Given the description of an element on the screen output the (x, y) to click on. 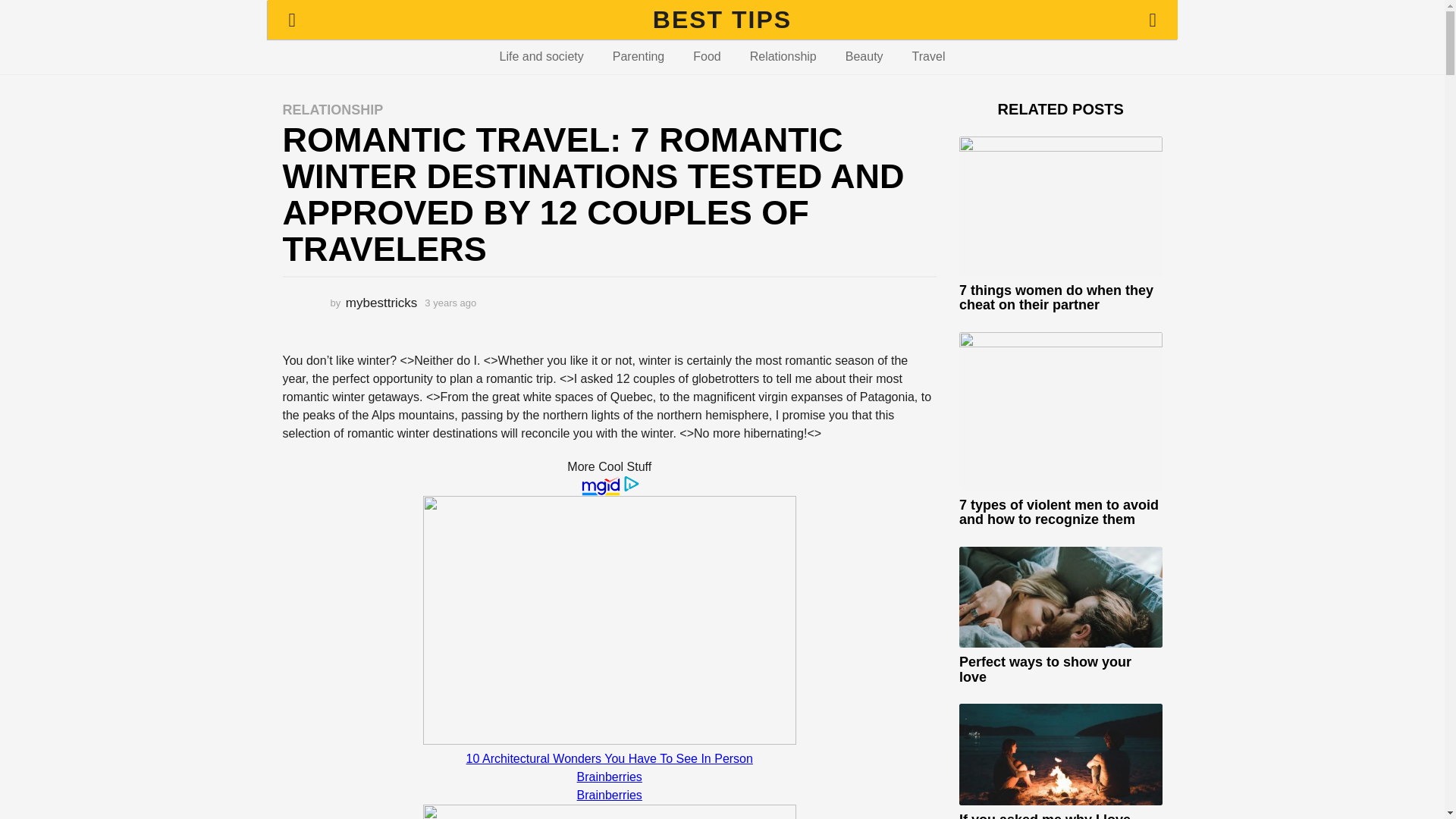
Life and society (541, 56)
Travel (928, 56)
BEST TIPS (722, 19)
Beauty (864, 56)
Life and society (541, 56)
Food (706, 56)
RELATIONSHIP (332, 109)
Food (706, 56)
Parenting (639, 56)
Beauty (864, 56)
